Given the description of an element on the screen output the (x, y) to click on. 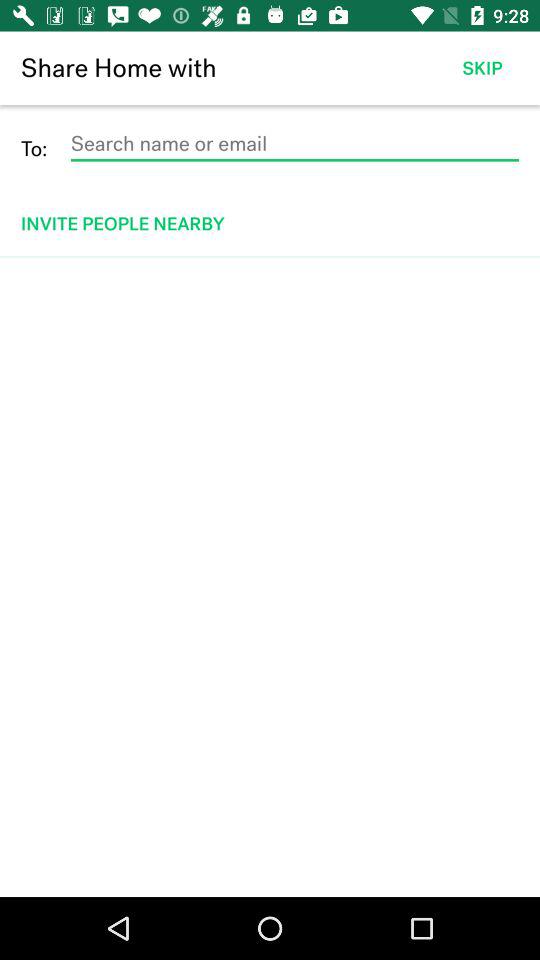
to search people by name or email (294, 144)
